Given the description of an element on the screen output the (x, y) to click on. 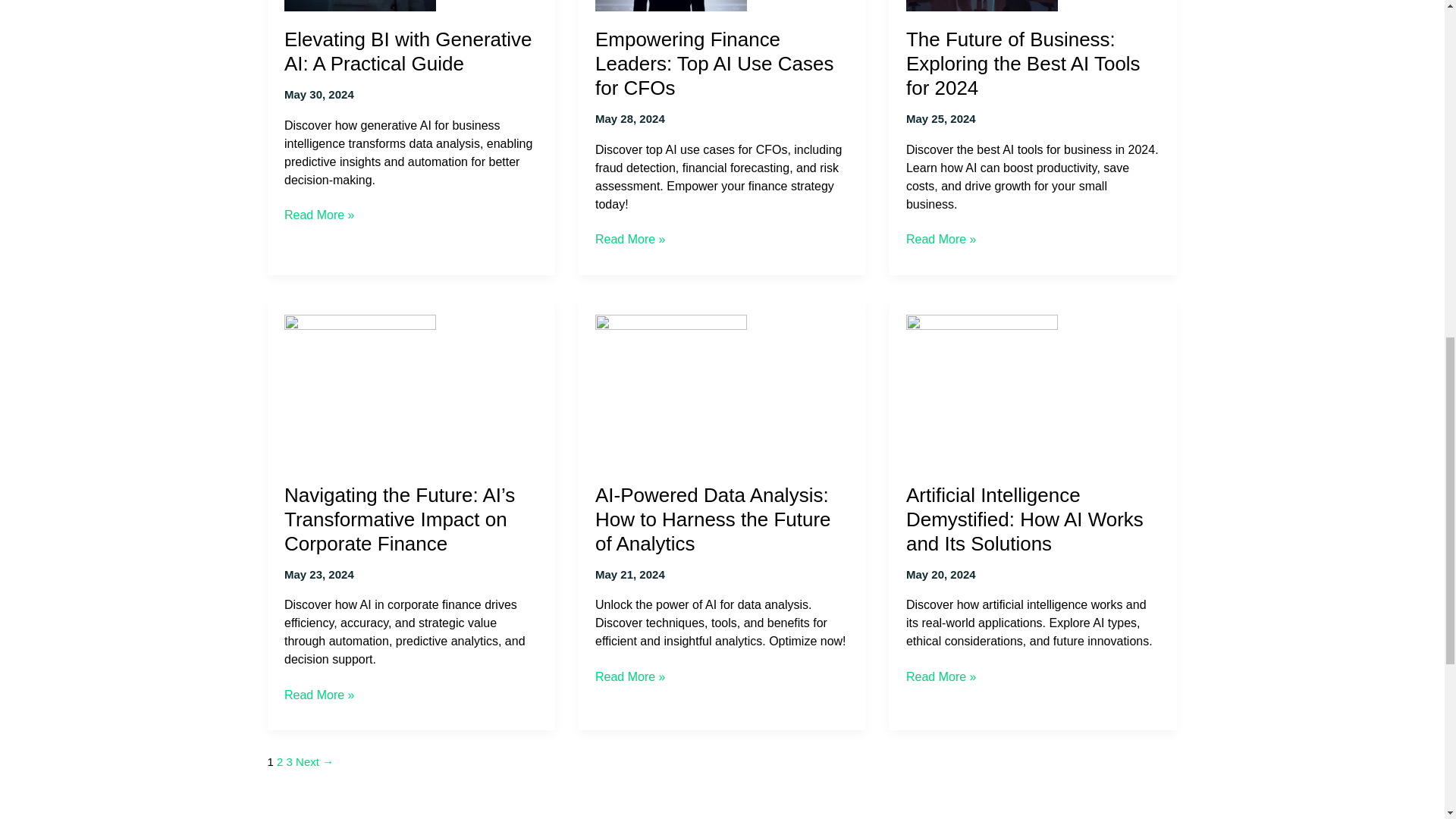
Elevating BI with Generative AI: A Practical Guide (407, 51)
